Given the description of an element on the screen output the (x, y) to click on. 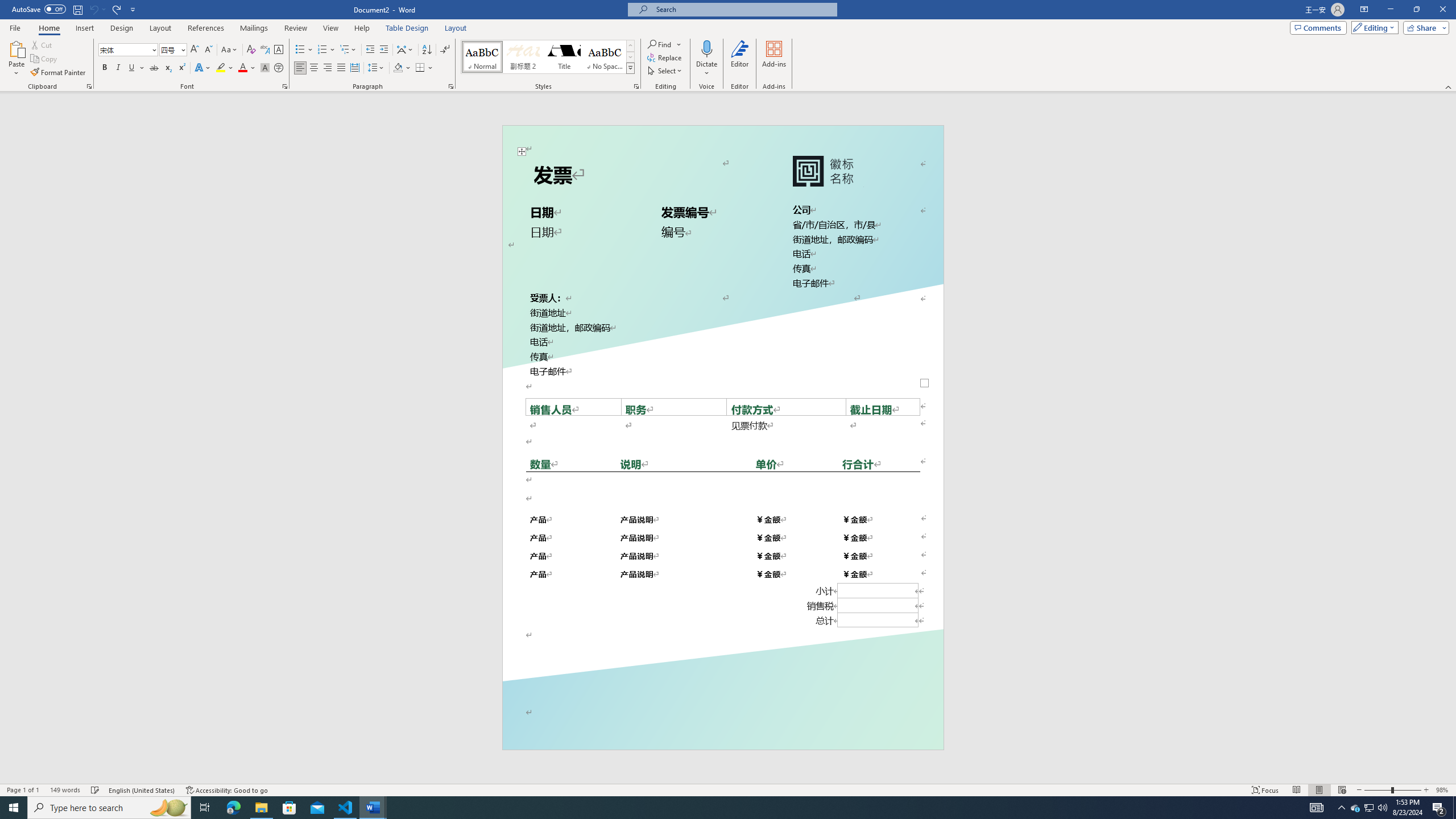
Page 1 content (722, 425)
